Given the description of an element on the screen output the (x, y) to click on. 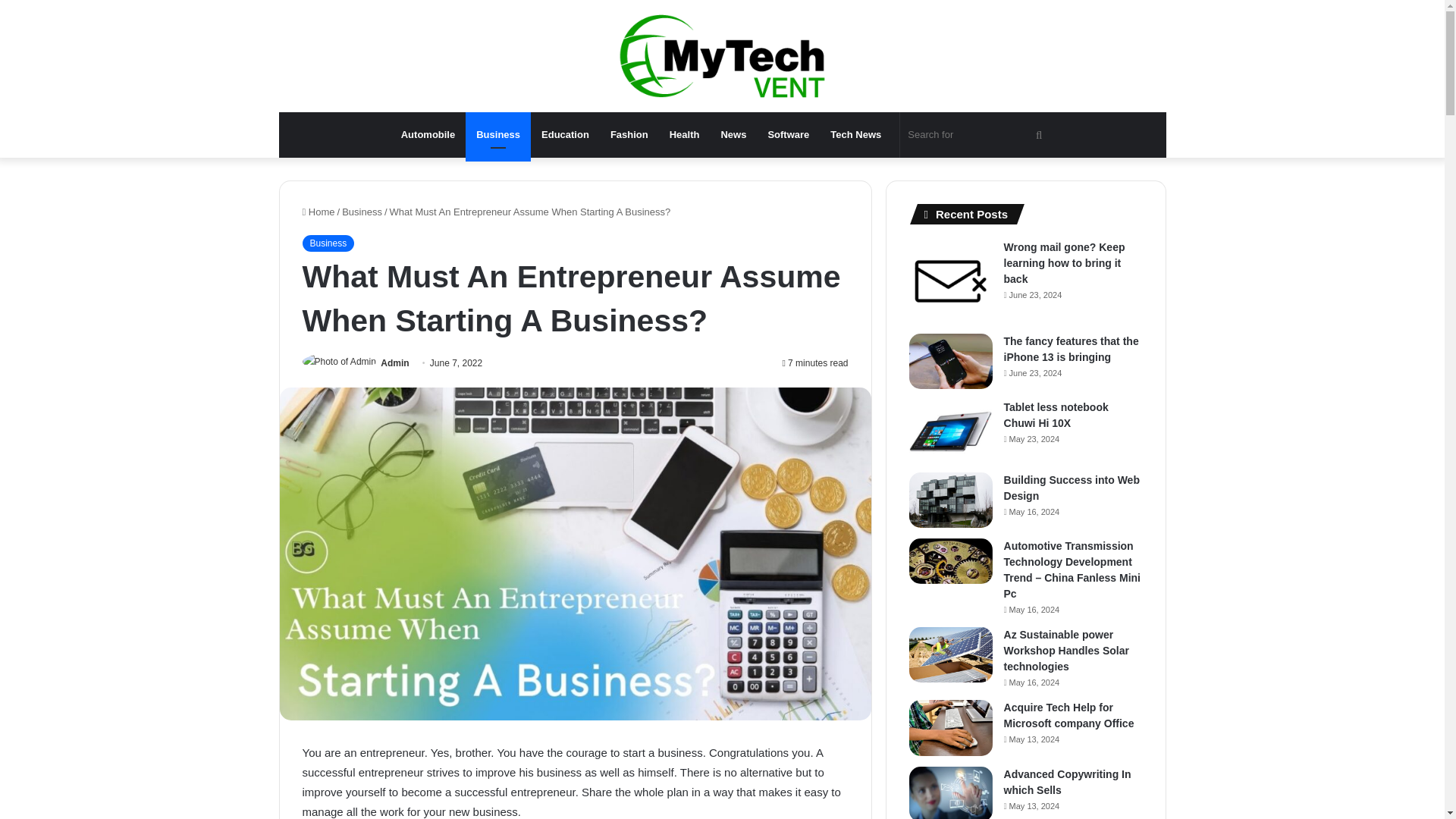
Business (498, 135)
Fashion (629, 135)
Admin (394, 362)
Business (361, 211)
Education (565, 135)
Business (327, 243)
Home (317, 211)
Tech News (855, 135)
Software (788, 135)
Automobile (427, 135)
